Given the description of an element on the screen output the (x, y) to click on. 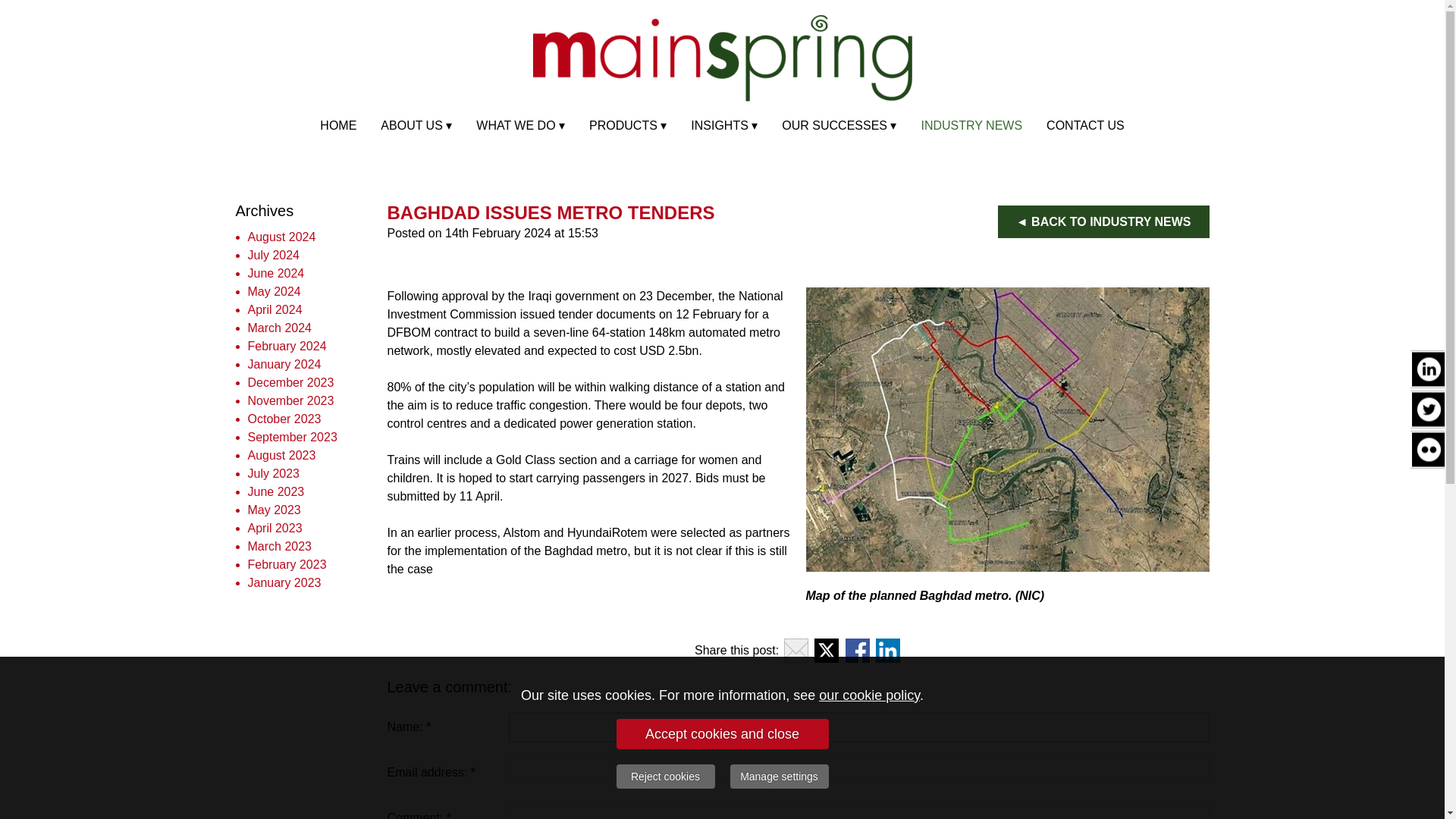
August 2024 (281, 236)
ABOUT US (416, 125)
June 2024 (275, 273)
July 2024 (273, 254)
CONTACT US (1085, 125)
INDUSTRY NEWS (970, 125)
BACK TO INDUSTRY NEWS (1103, 221)
WHAT WE DO (520, 125)
HOME (337, 125)
